Given the description of an element on the screen output the (x, y) to click on. 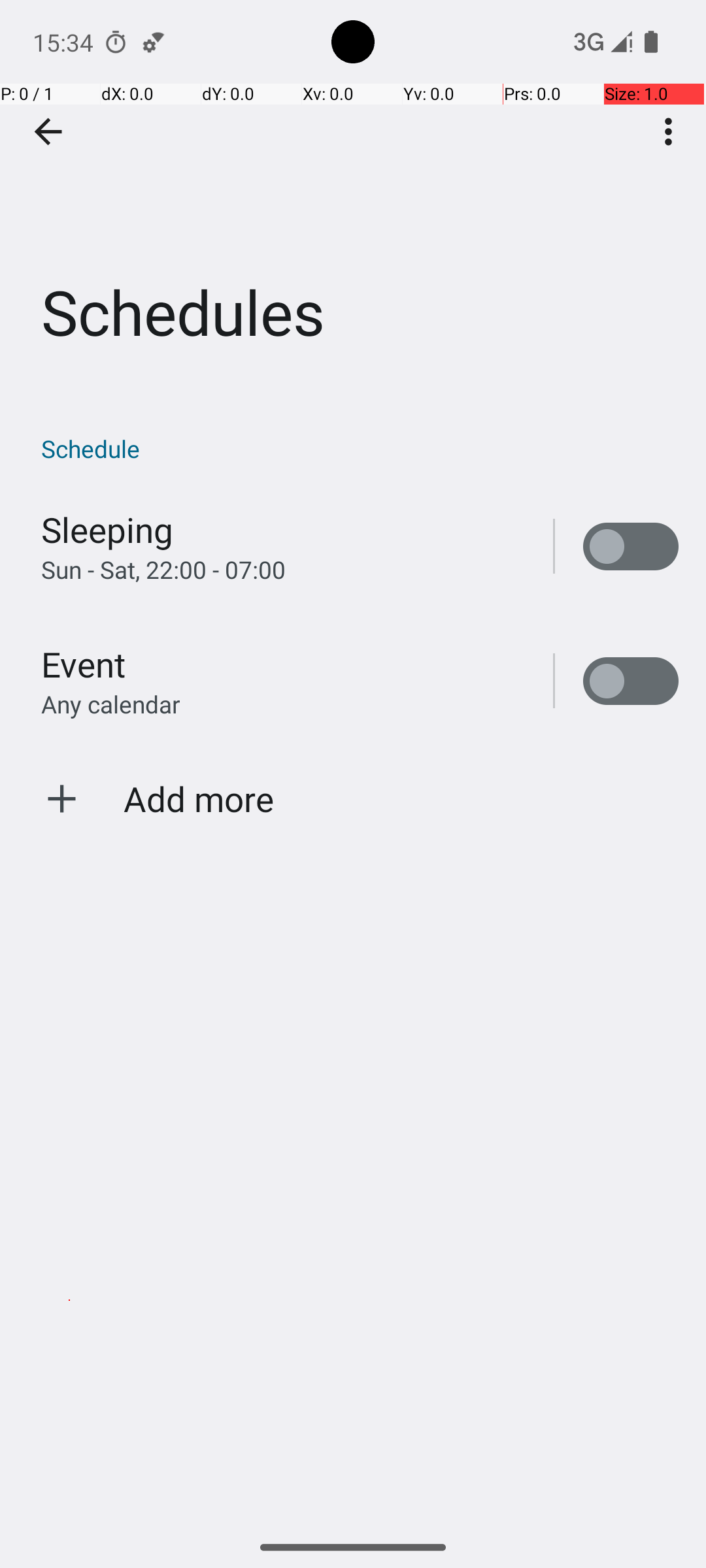
Schedule Element type: android.widget.TextView (359, 448)
Sleeping Element type: android.widget.TextView (107, 529)
Sun - Sat, 22:00 - 07:00 Element type: android.widget.TextView (163, 569)
Any calendar Element type: android.widget.TextView (110, 703)
Add more Element type: android.widget.TextView (198, 798)
